Given the description of an element on the screen output the (x, y) to click on. 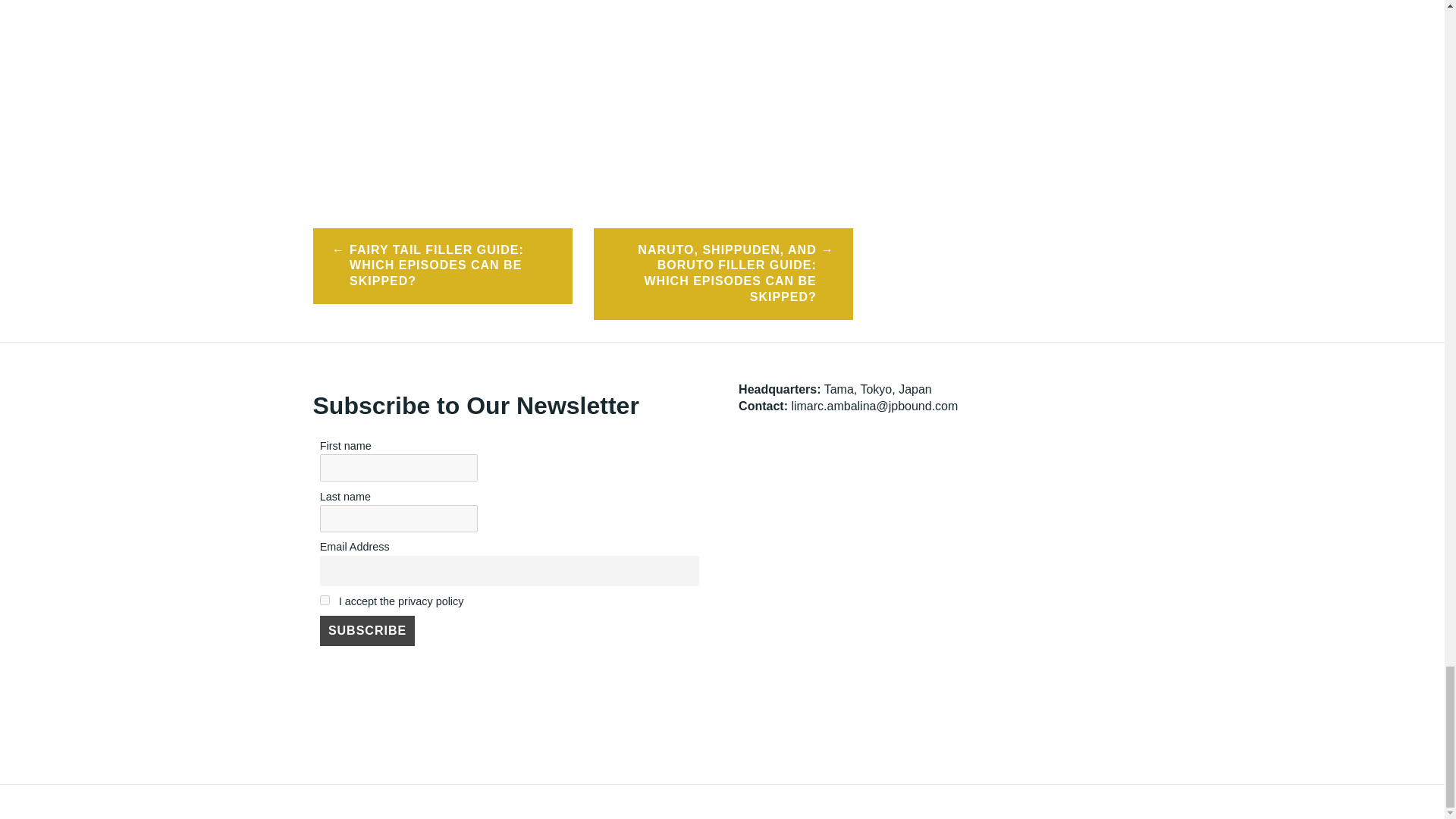
Subscribe (367, 630)
Comment Form (583, 87)
on (325, 600)
